Given the description of an element on the screen output the (x, y) to click on. 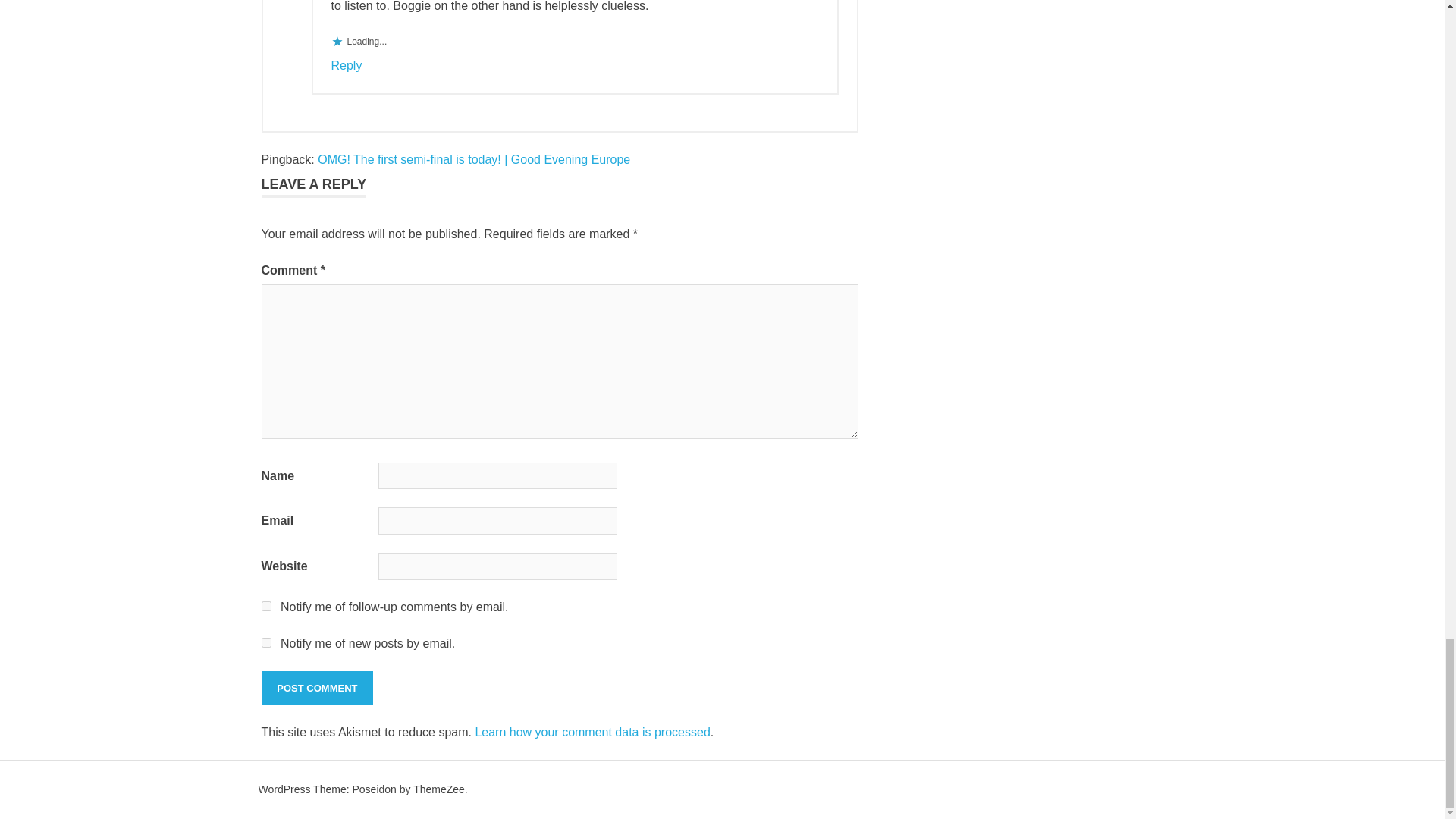
subscribe (265, 642)
Post Comment (316, 687)
subscribe (265, 605)
